Given the description of an element on the screen output the (x, y) to click on. 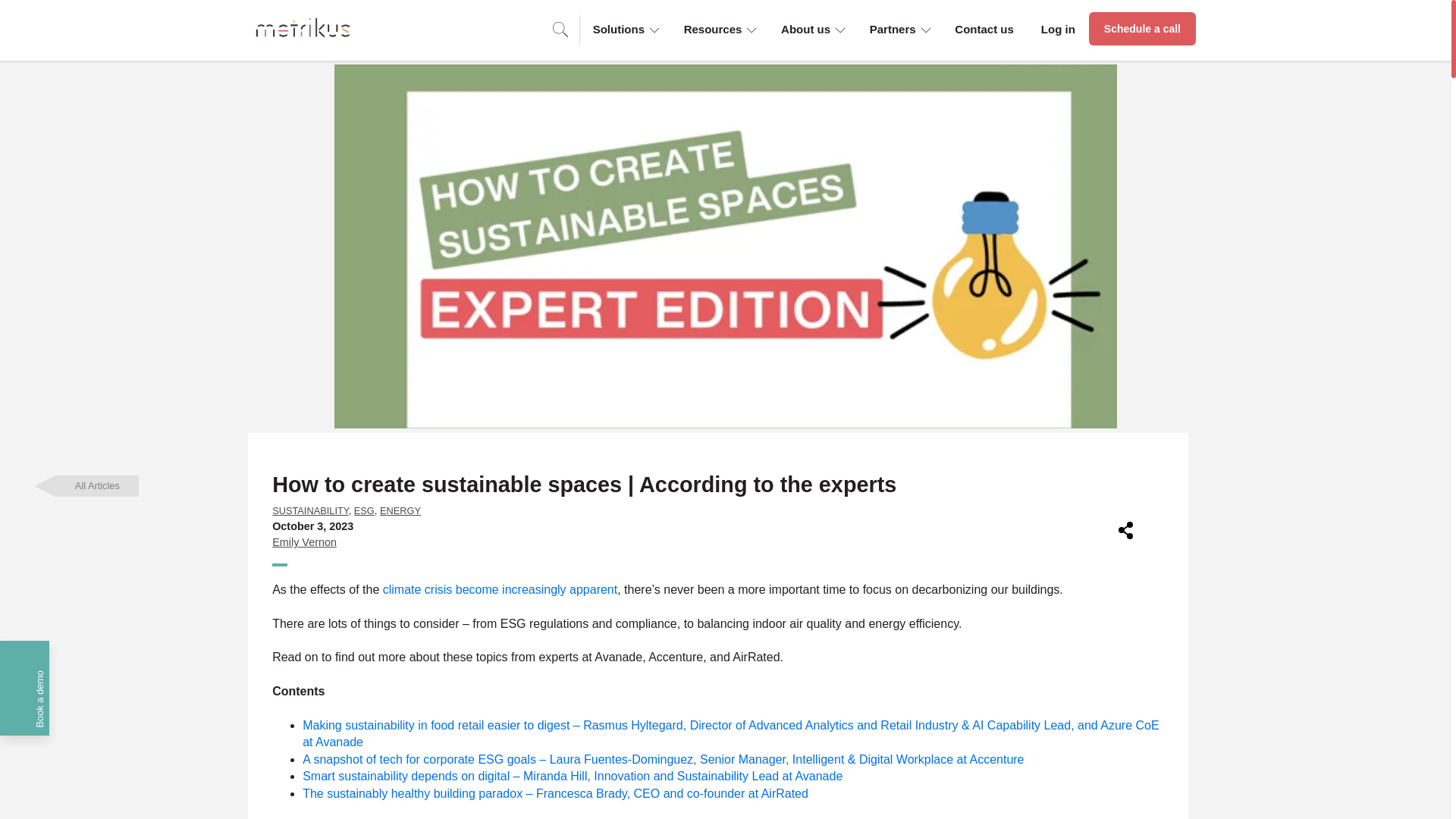
climate crisis become increasingly apparent (499, 589)
All Articles (96, 485)
ENERGY (400, 510)
Log in (1058, 29)
Contact us (983, 29)
ESG (363, 510)
Emily Vernon (304, 541)
Schedule a call (1142, 28)
Chat (1413, 779)
Schedule a call (1142, 28)
SUSTAINABILITY (310, 510)
